Given the description of an element on the screen output the (x, y) to click on. 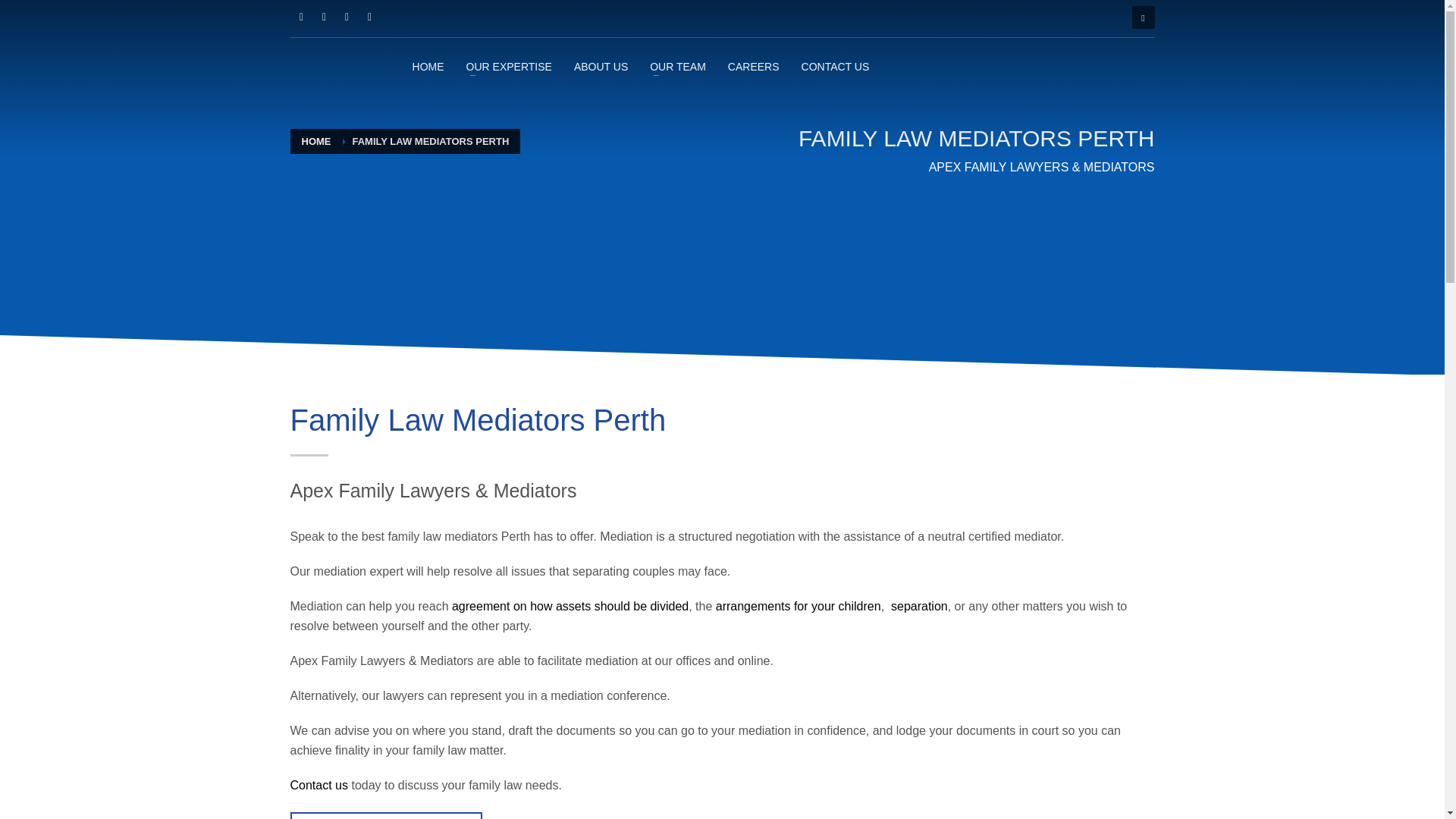
separation (919, 605)
Linkedin (346, 16)
agreement on how assets should be divided (569, 605)
CAREERS (754, 66)
Contact us (318, 784)
CONTACT US (835, 66)
SPEAK TO A LAWYER TODAY (385, 815)
arrangements for your children (798, 605)
Mediation Contact Form from Website (385, 815)
Facebook (301, 16)
